Given the description of an element on the screen output the (x, y) to click on. 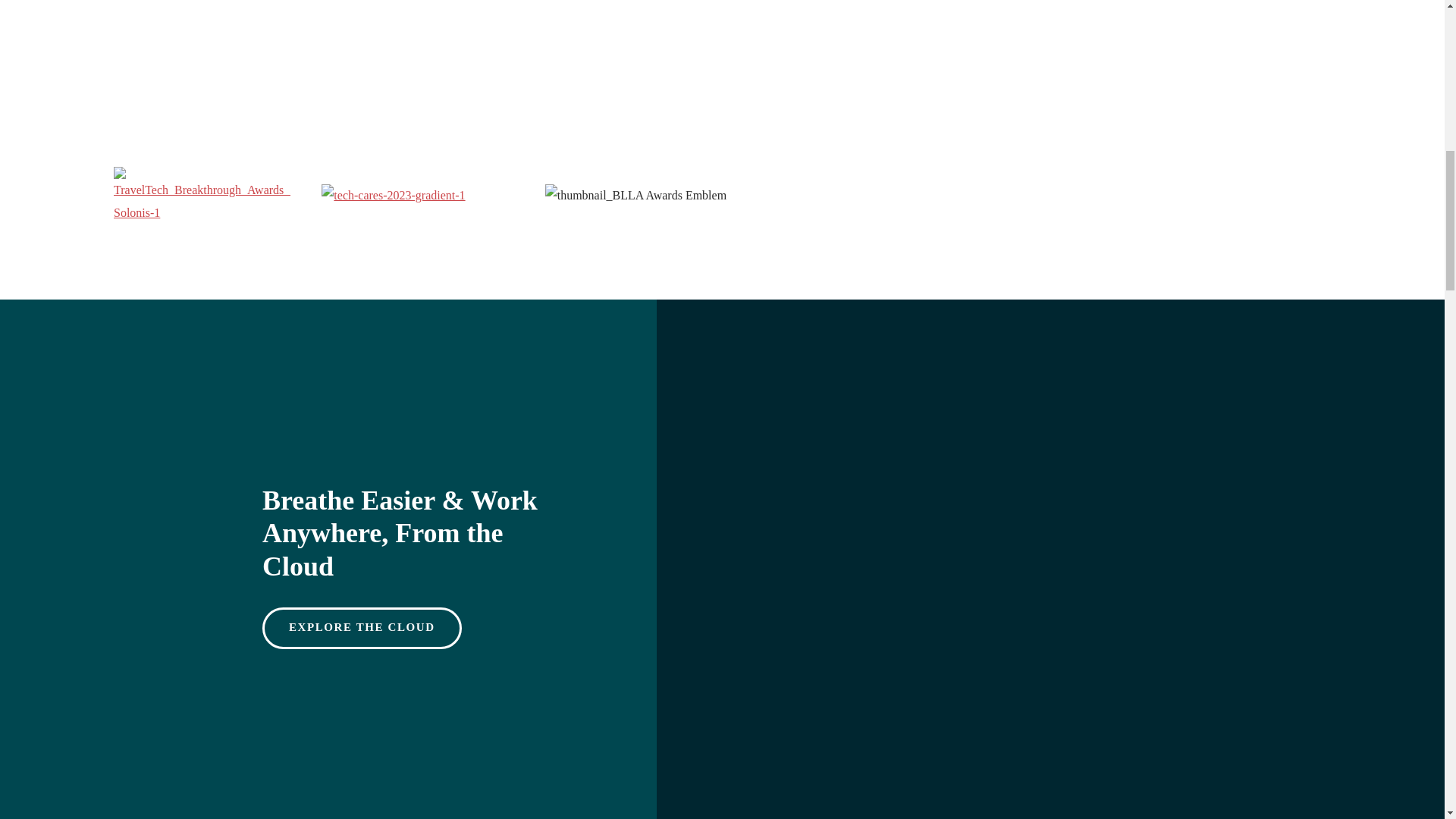
EXPLORE THE CLOUD (361, 628)
tech-cares-2023-gradient-1 (392, 195)
HubSpot Video (970, 7)
